Given the description of an element on the screen output the (x, y) to click on. 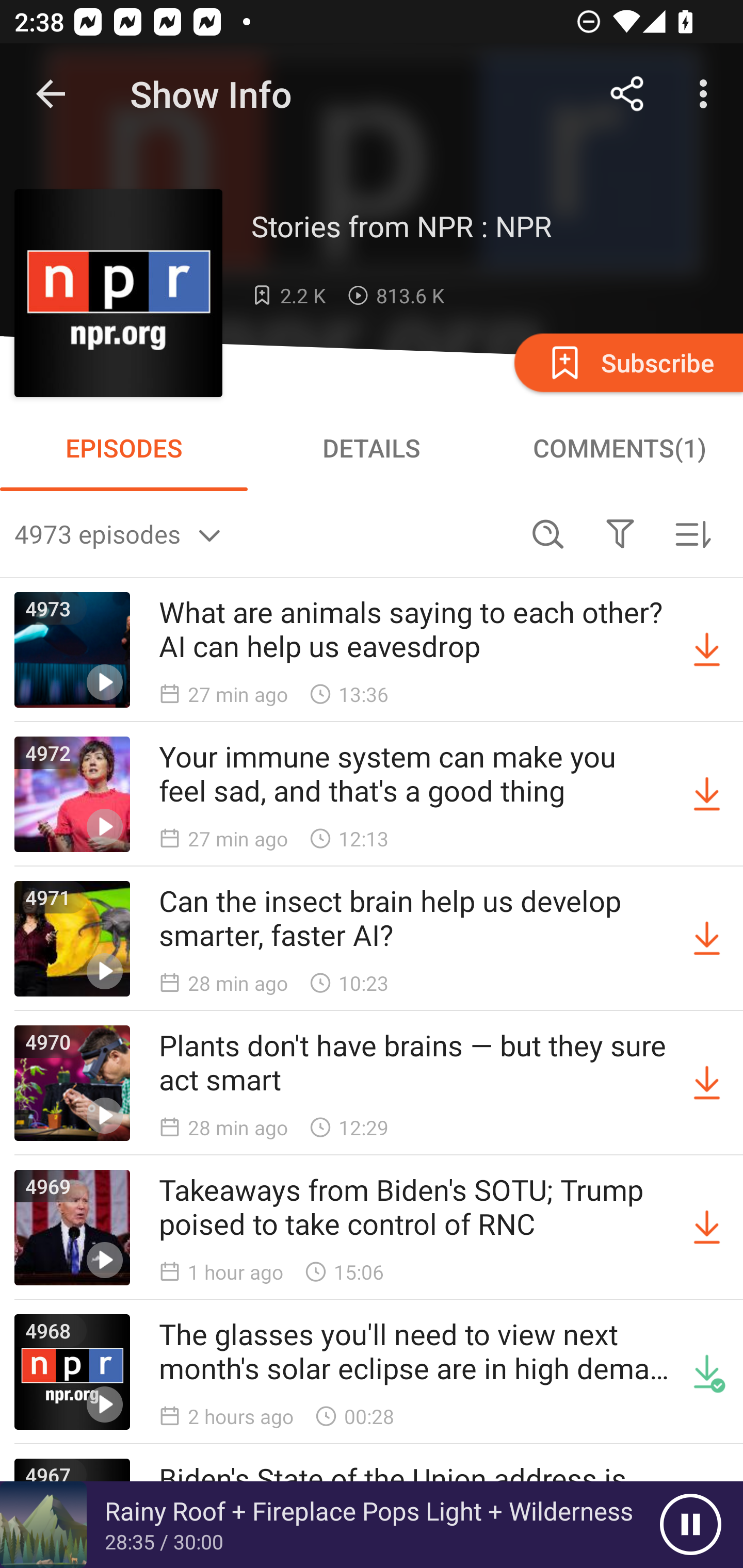
Navigate up (50, 93)
Share (626, 93)
More options (706, 93)
Subscribe (627, 361)
EPISODES (123, 447)
DETAILS (371, 447)
COMMENTS(1) (619, 447)
4973 episodes  (262, 533)
 Search (547, 533)
 (619, 533)
 Sorted by newest first (692, 533)
Download (706, 649)
Download (706, 793)
Download (706, 939)
Download (706, 1083)
Download (706, 1227)
Downloaded (706, 1371)
Pause (690, 1524)
